Given the description of an element on the screen output the (x, y) to click on. 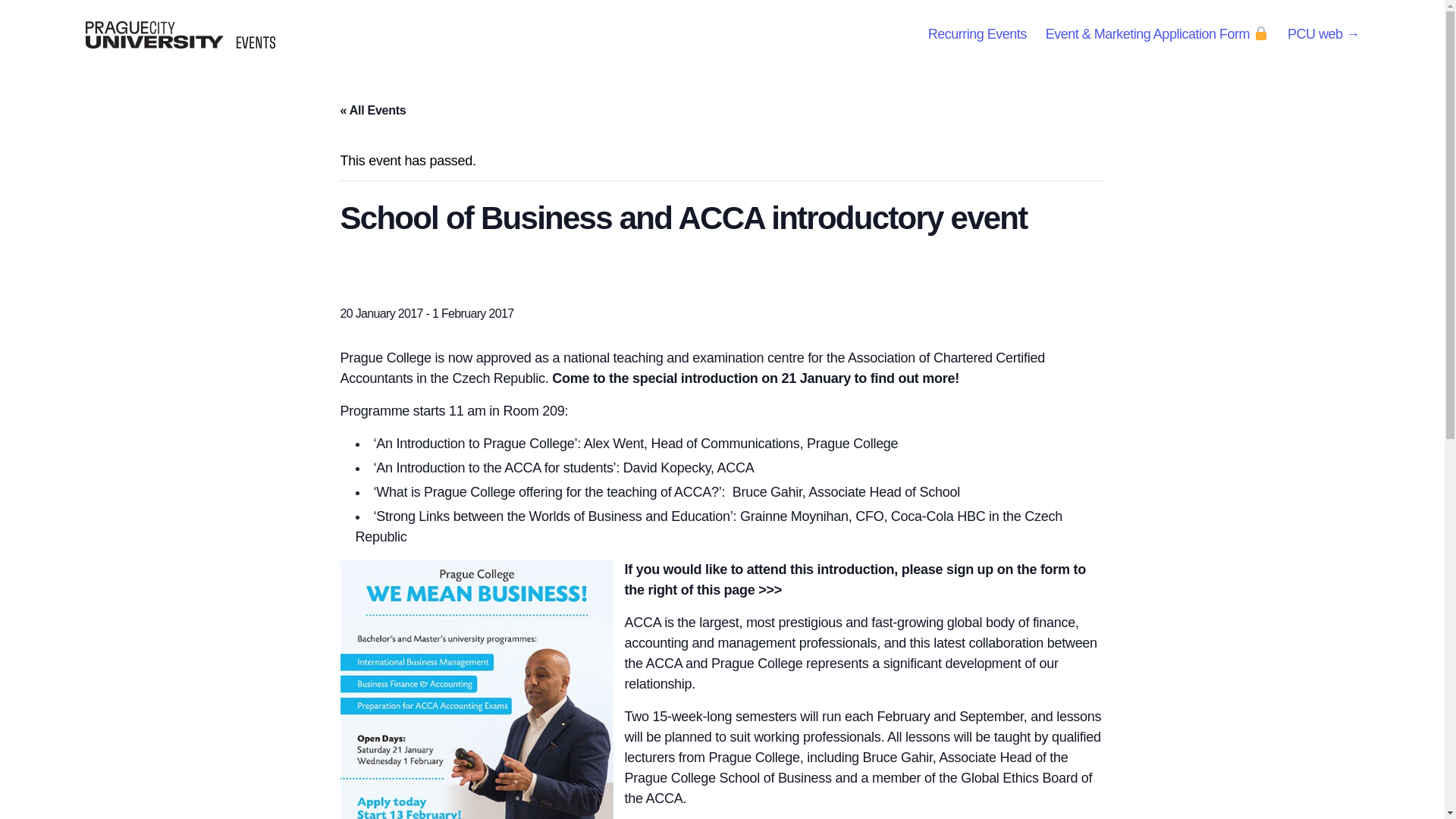
Recurring Events (977, 34)
